Given the description of an element on the screen output the (x, y) to click on. 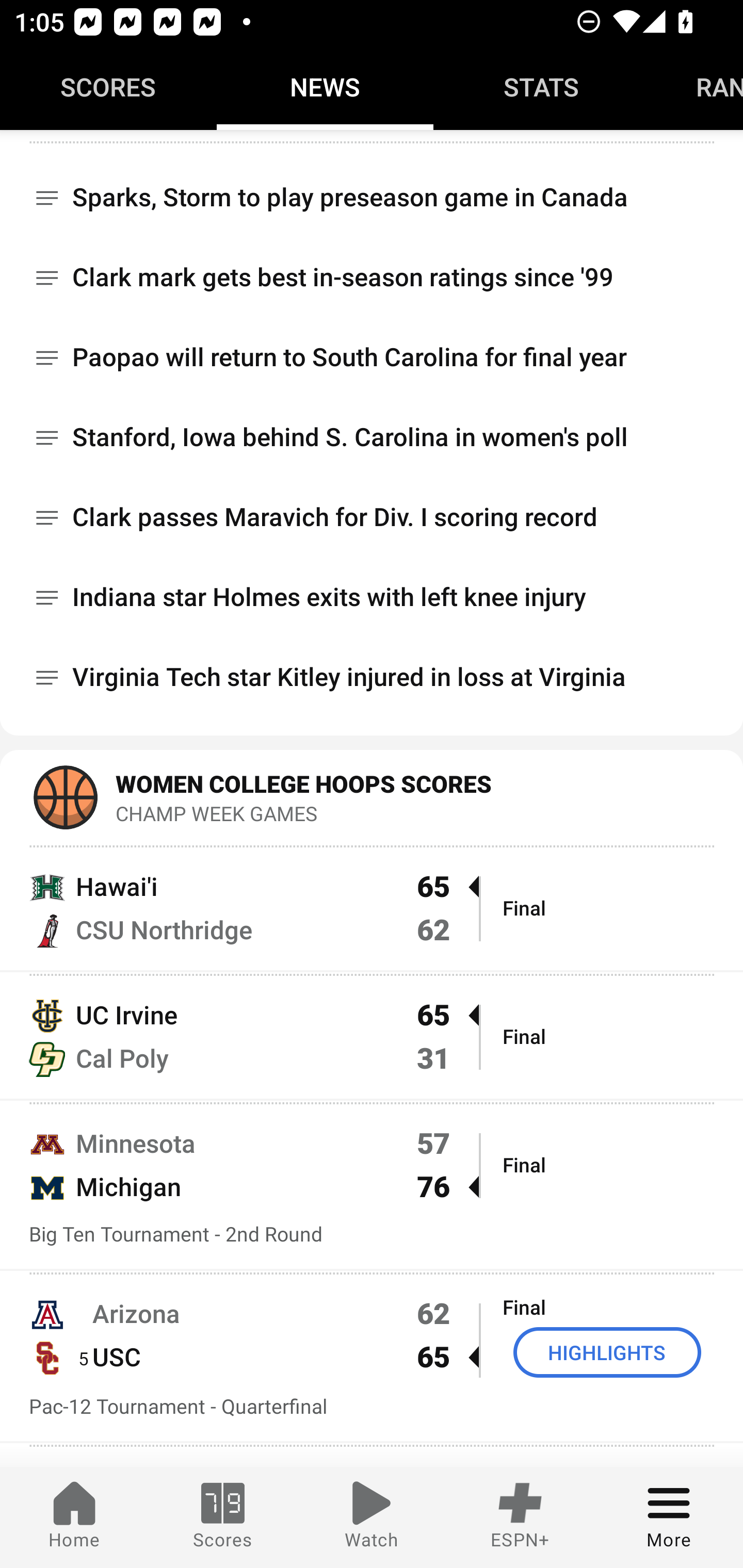
Scores SCORES (108, 86)
Stats STATS (541, 86)
Rankings RANKINGS (696, 86)
 Sparks, Storm to play preseason game in Canada (371, 190)
 Clark mark gets best in-season ratings since '99 (371, 278)
 Clark passes Maravich for Div. I scoring record (371, 518)
 Indiana star Holmes exits with left knee injury (371, 598)
Hawai'i 65  CSU Northridge 62 Final (371, 906)
UC Irvine 65  Cal Poly 31 Final (371, 1035)
HIGHLIGHTS (607, 1352)
Home (74, 1517)
Scores (222, 1517)
Watch (371, 1517)
ESPN+ (519, 1517)
